Given the description of an element on the screen output the (x, y) to click on. 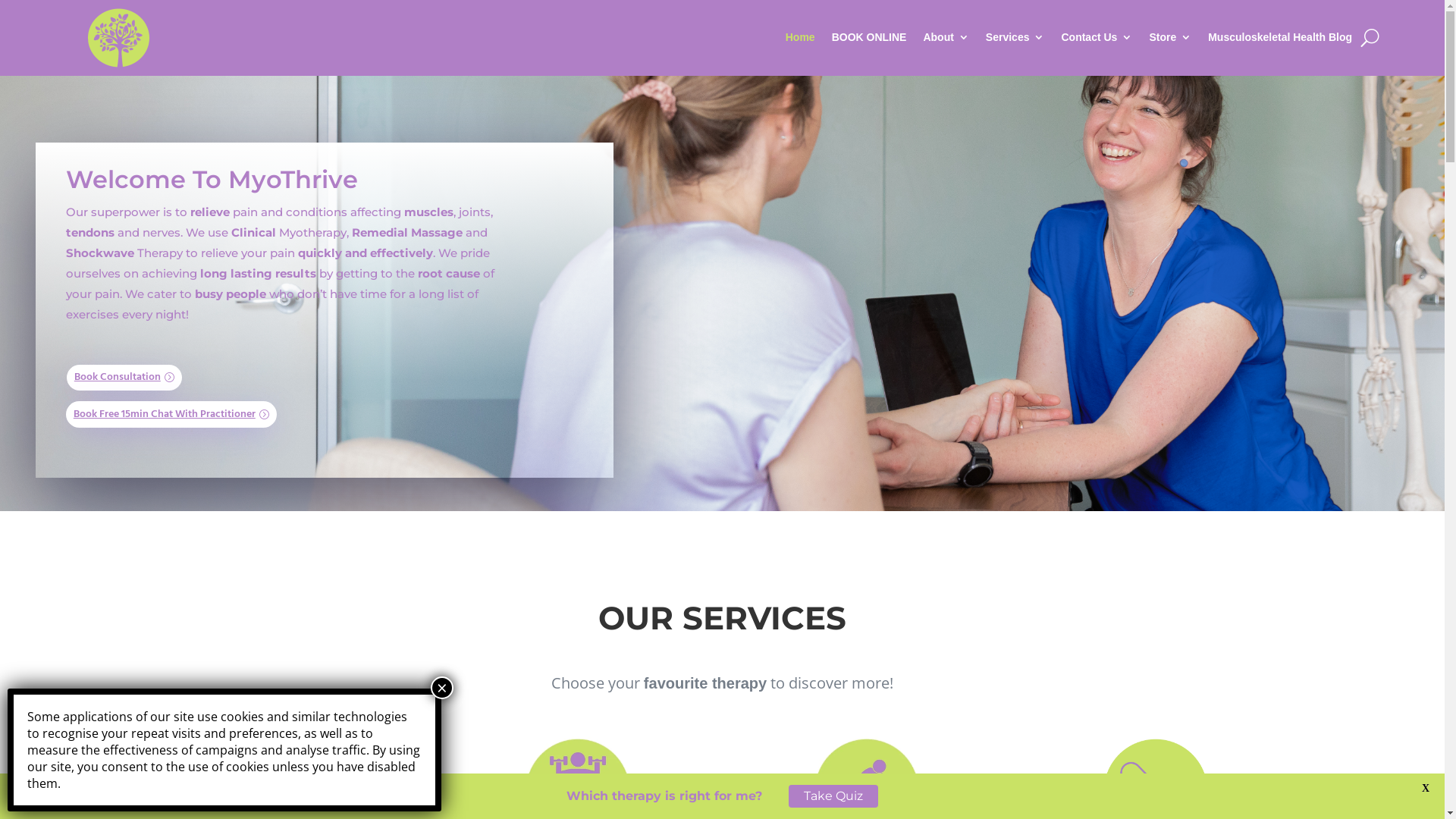
Take Quiz Element type: text (833, 795)
Home Element type: text (800, 36)
Contact Us Element type: text (1096, 36)
Services Element type: text (1014, 36)
Book Consultation Element type: text (124, 377)
Musculoskeletal Health Blog Element type: text (1280, 36)
Store Element type: text (1169, 36)
Book Free 15min Chat With Practitioner Element type: text (170, 414)
X Element type: text (1425, 788)
BOOK ONLINE Element type: text (868, 36)
About Element type: text (945, 36)
